Given the description of an element on the screen output the (x, y) to click on. 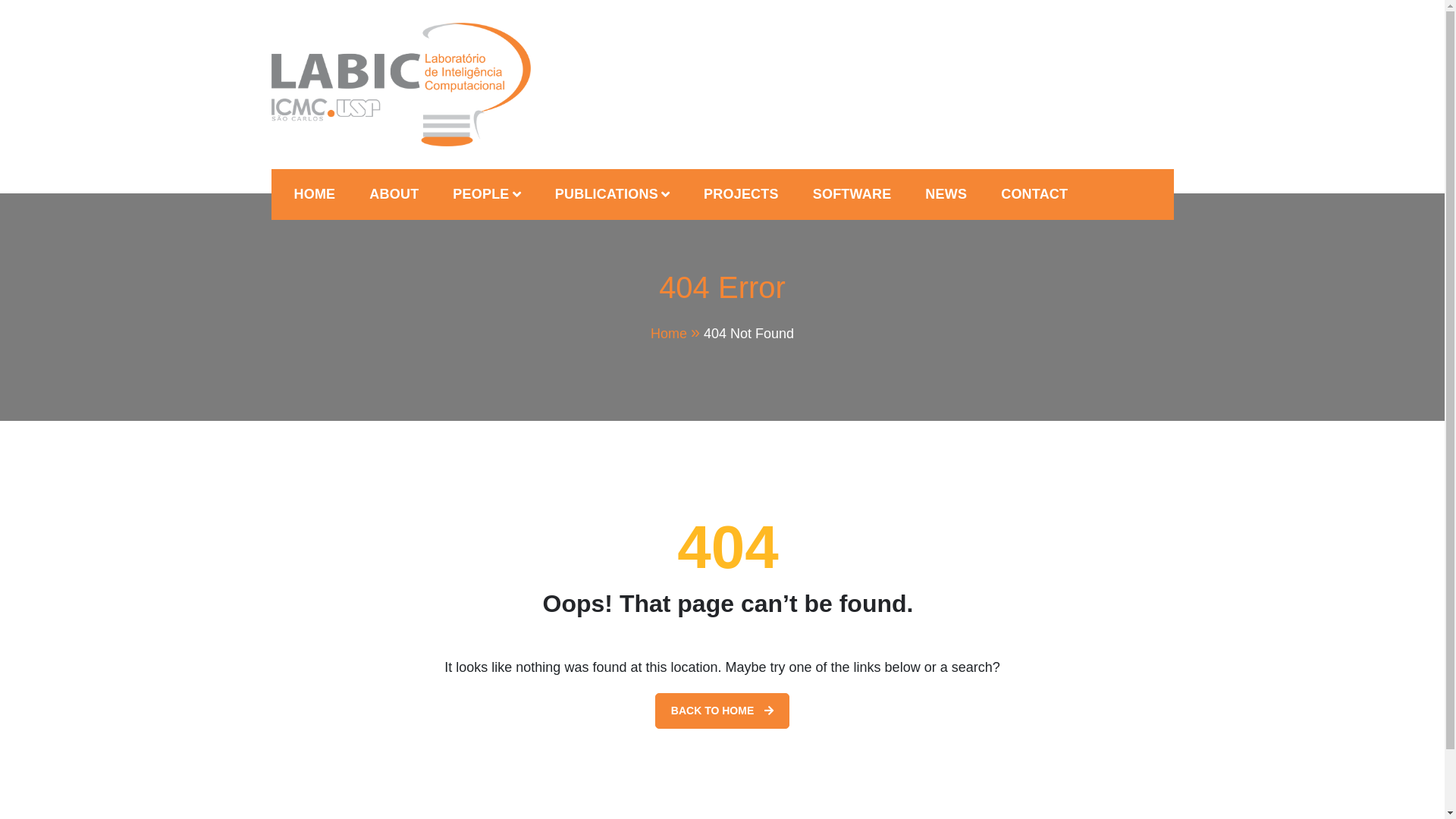
Laboratory of Computational Intelligence Element type: text (537, 162)
Home Element type: text (676, 333)
BACK TO HOME Element type: text (722, 710)
ABOUT Element type: text (393, 194)
PROJECTS Element type: text (740, 194)
CONTACT Element type: text (1033, 194)
PEOPLE Element type: text (486, 194)
HOME Element type: text (315, 194)
SOFTWARE Element type: text (851, 194)
NEWS Element type: text (946, 194)
PUBLICATIONS Element type: text (611, 194)
